Given the description of an element on the screen output the (x, y) to click on. 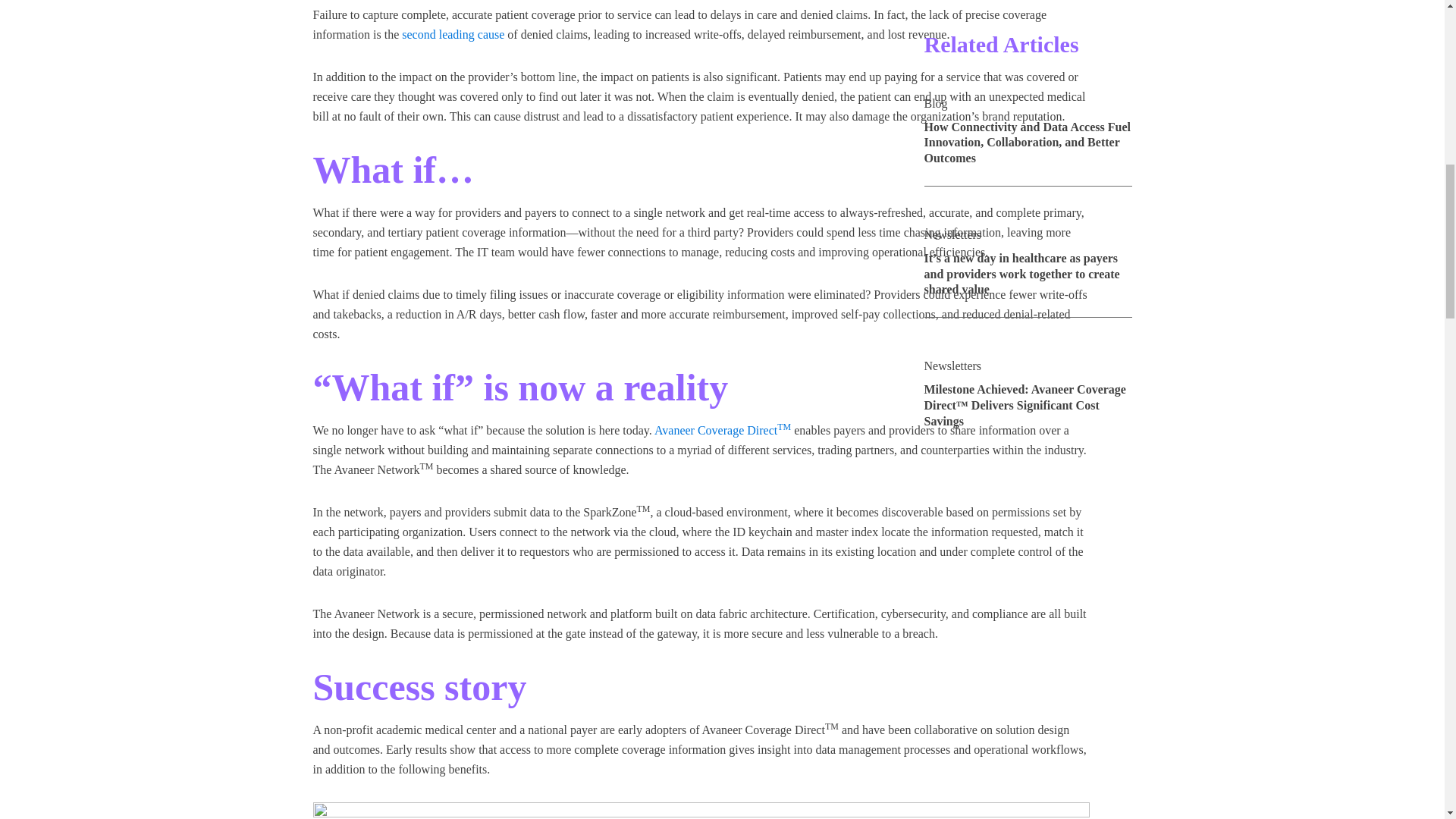
Newsletters (952, 24)
second leading cause (452, 33)
Avaneer Coverage DirectTM (721, 430)
